Given the description of an element on the screen output the (x, y) to click on. 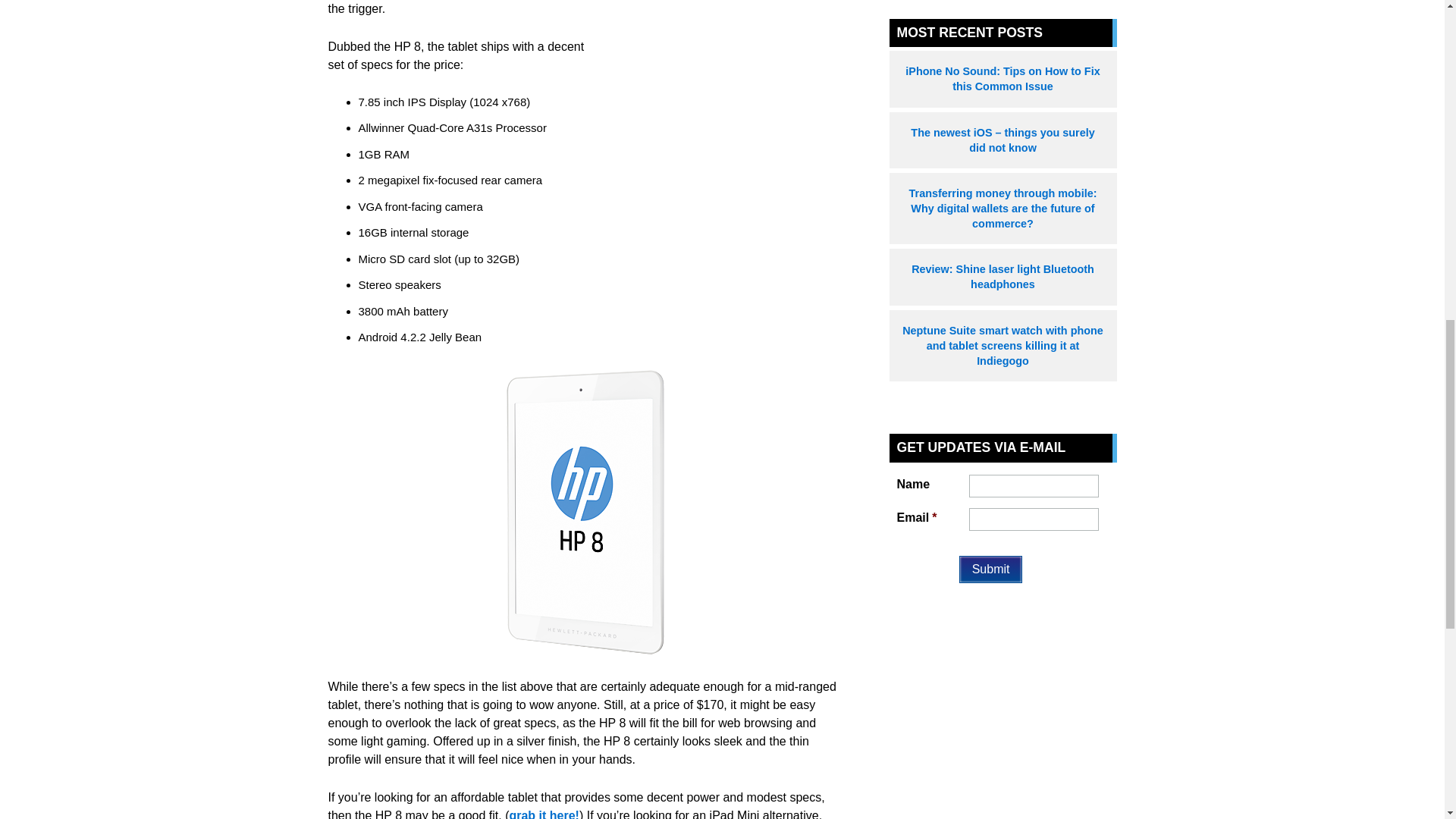
Advertisement (729, 31)
grab it here! (543, 814)
Submit (991, 569)
HP82 (585, 512)
